Given the description of an element on the screen output the (x, y) to click on. 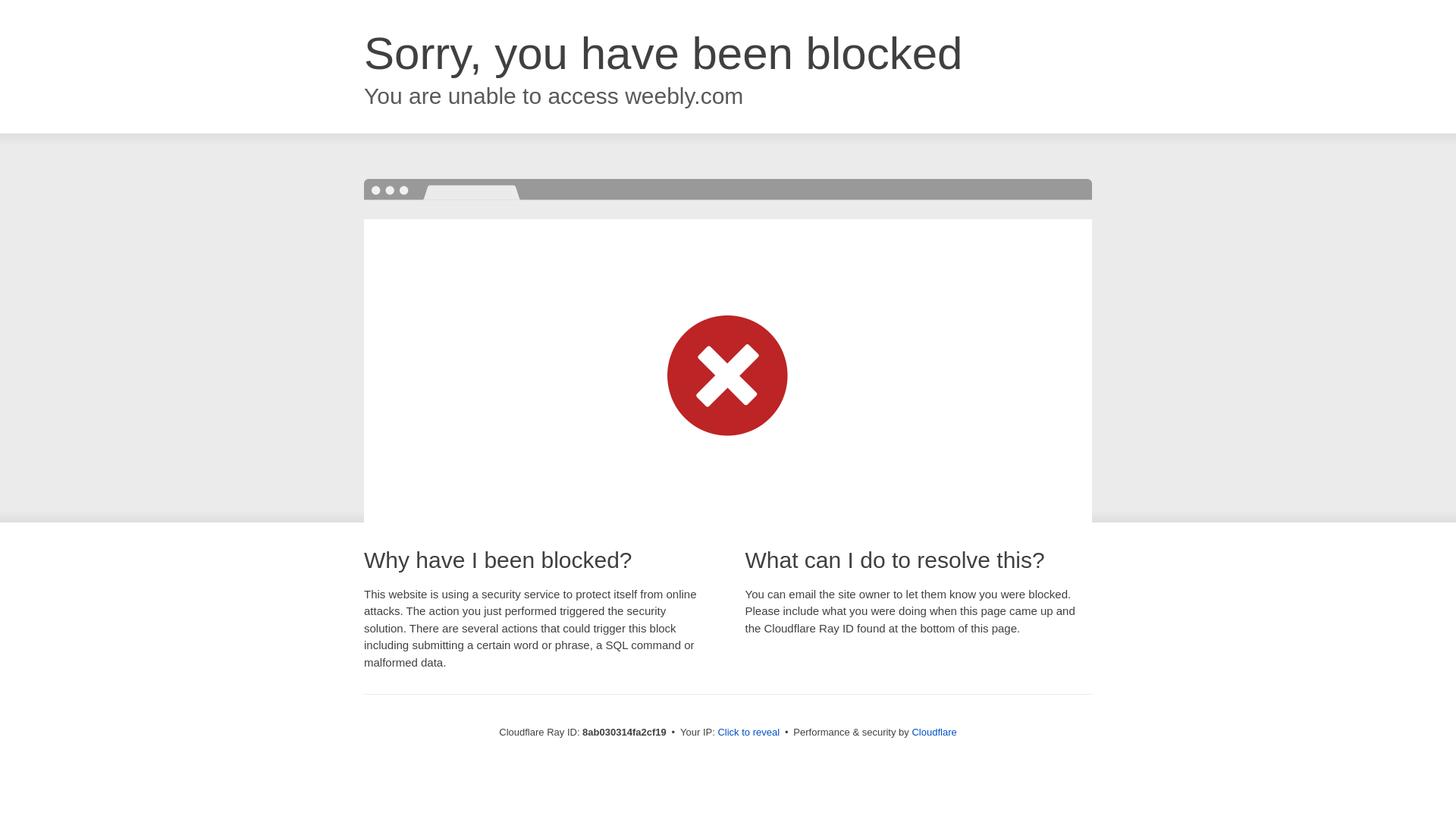
Click to reveal (747, 732)
Cloudflare (933, 731)
